Given the description of an element on the screen output the (x, y) to click on. 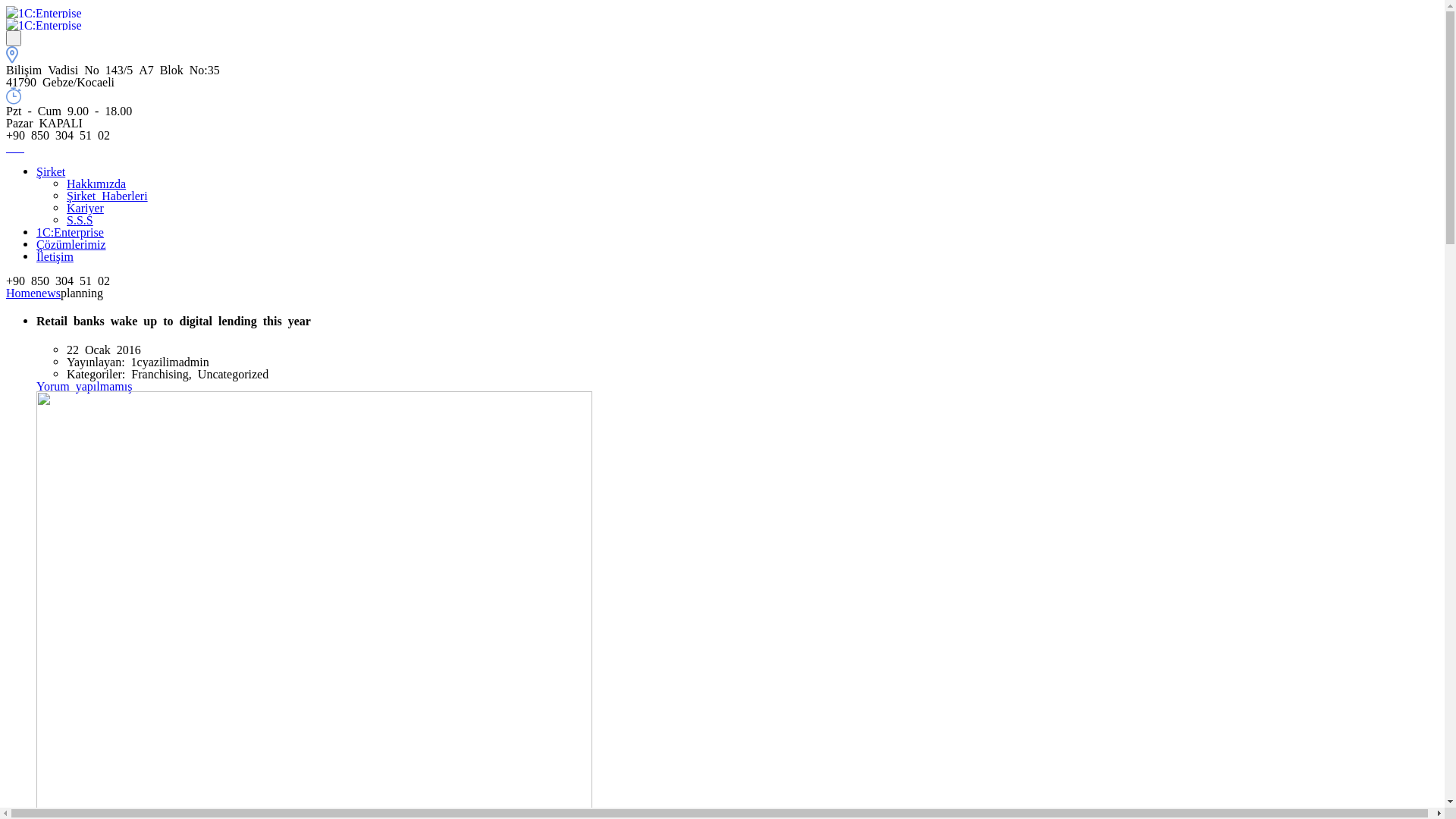
S.S.S Element type: text (79, 219)
Home Element type: text (20, 291)
news Element type: text (47, 291)
  Element type: text (21, 146)
  Element type: text (13, 38)
  Element type: text (12, 146)
Kariyer Element type: text (84, 206)
1C:Enterprise Element type: text (69, 231)
